Given the description of an element on the screen output the (x, y) to click on. 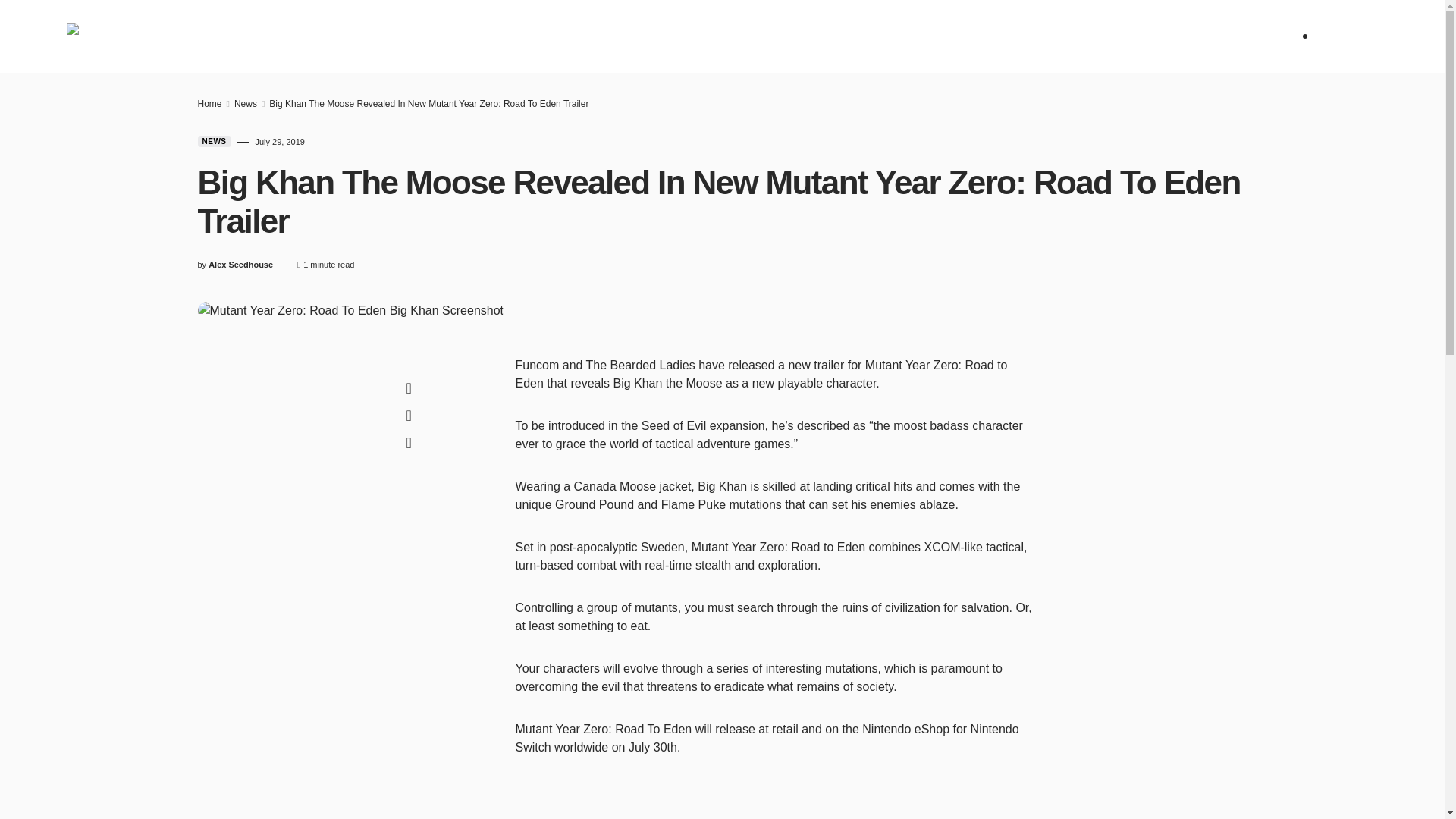
HOME (296, 36)
NEWS (349, 36)
PREVIEWS (486, 36)
FEATURES (564, 36)
Features (564, 36)
Previews (486, 36)
INTERVIEWS (709, 36)
News (349, 36)
GUIDES (634, 36)
REVIEWS (411, 36)
